Given the description of an element on the screen output the (x, y) to click on. 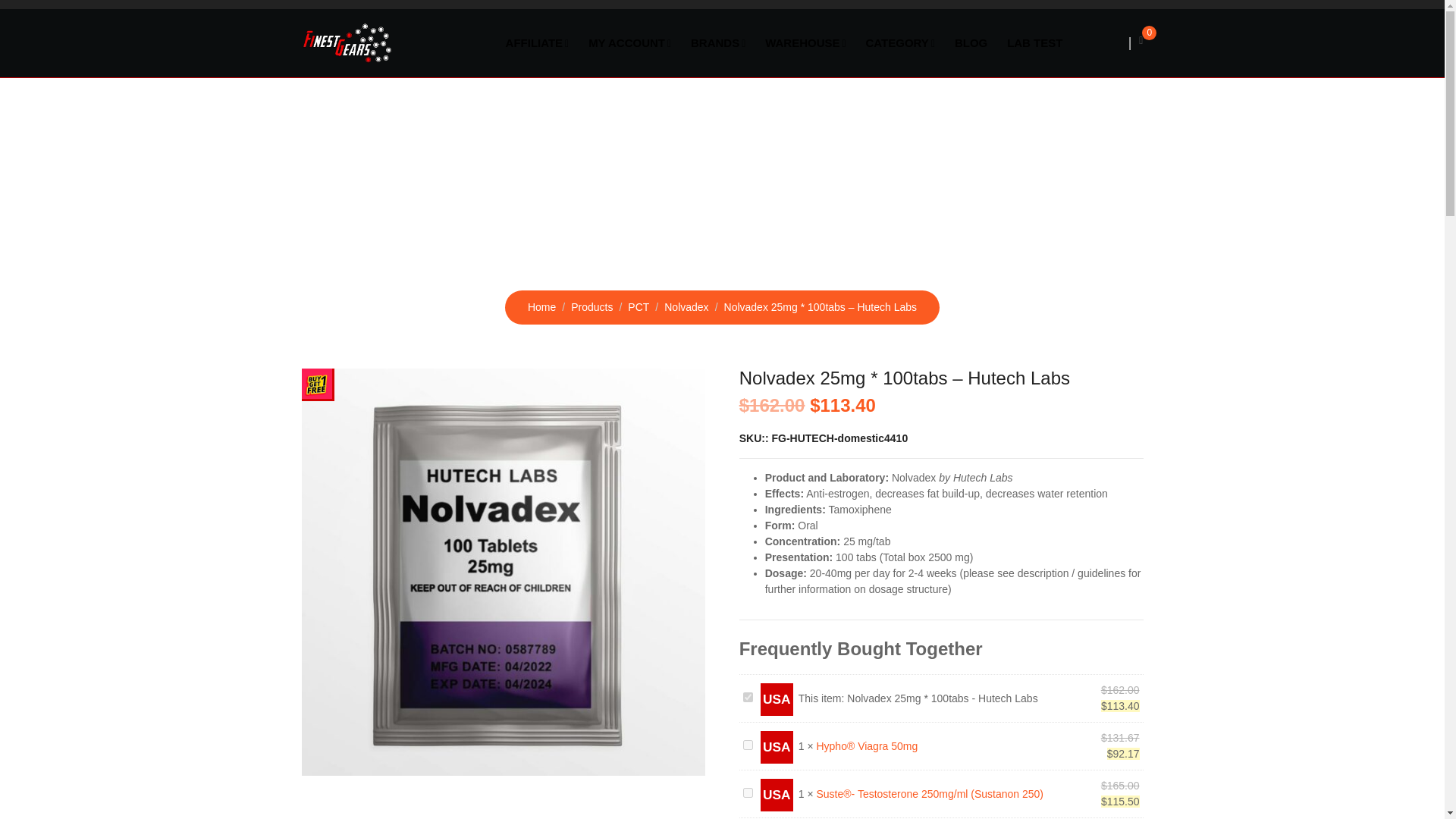
AFFILIATE (537, 42)
on (747, 696)
BRANDS (718, 42)
MY ACCOUNT (629, 42)
26710 (747, 792)
26734 (747, 745)
